Given the description of an element on the screen output the (x, y) to click on. 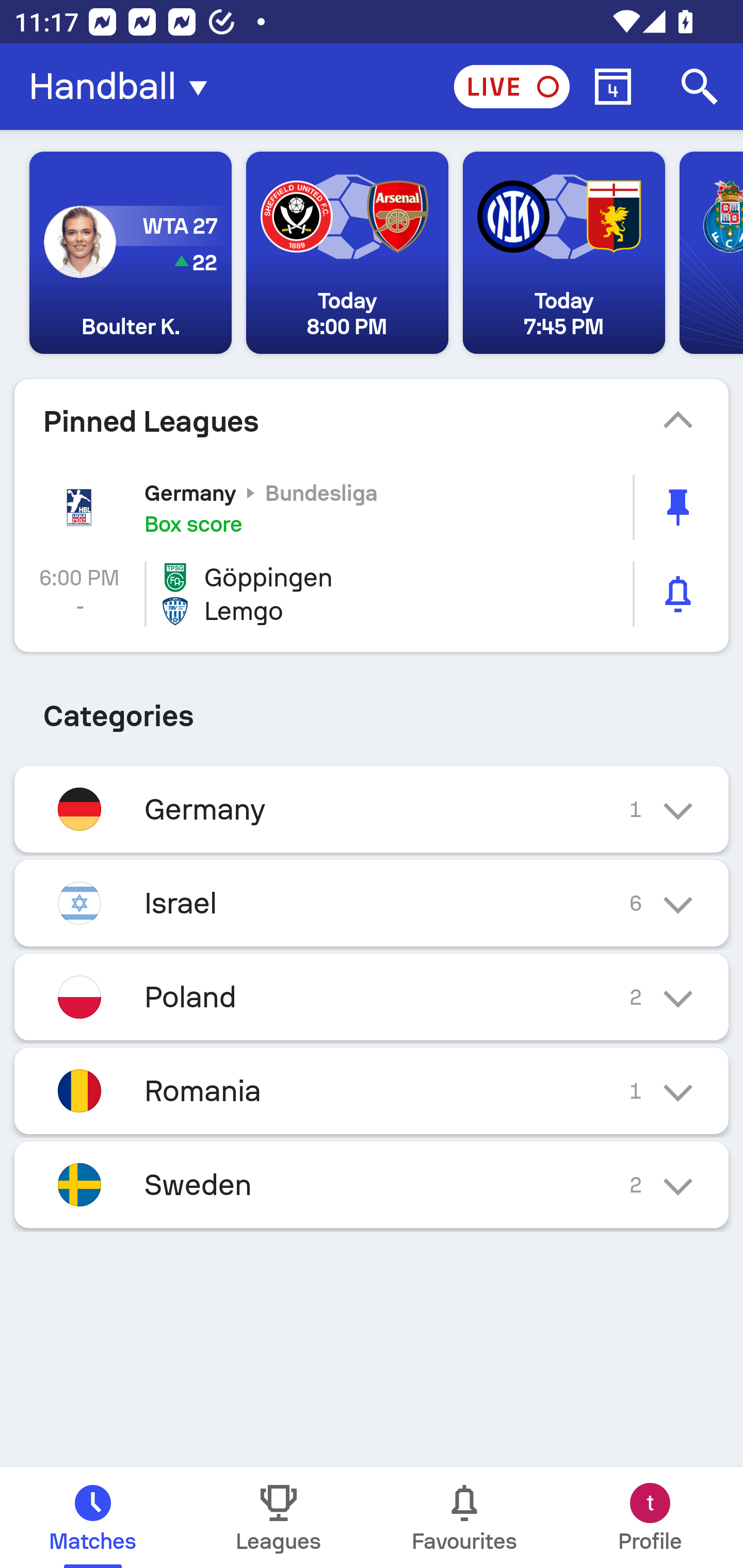
Handball (124, 86)
Calendar (612, 86)
Search (699, 86)
WTA 27 22 Boulter K. (130, 253)
Today
8:00 PM (346, 253)
Today
7:45 PM (563, 253)
Pinned Leagues (371, 421)
Germany Bundesliga Box score (371, 507)
6:00 PM - Göppingen Lemgo (371, 594)
Categories (371, 708)
Germany 1 (371, 808)
Israel 6 (371, 903)
Poland 2 (371, 996)
Romania 1 (371, 1090)
Sweden 2 (371, 1184)
Leagues (278, 1517)
Favourites (464, 1517)
Profile (650, 1517)
